Given the description of an element on the screen output the (x, y) to click on. 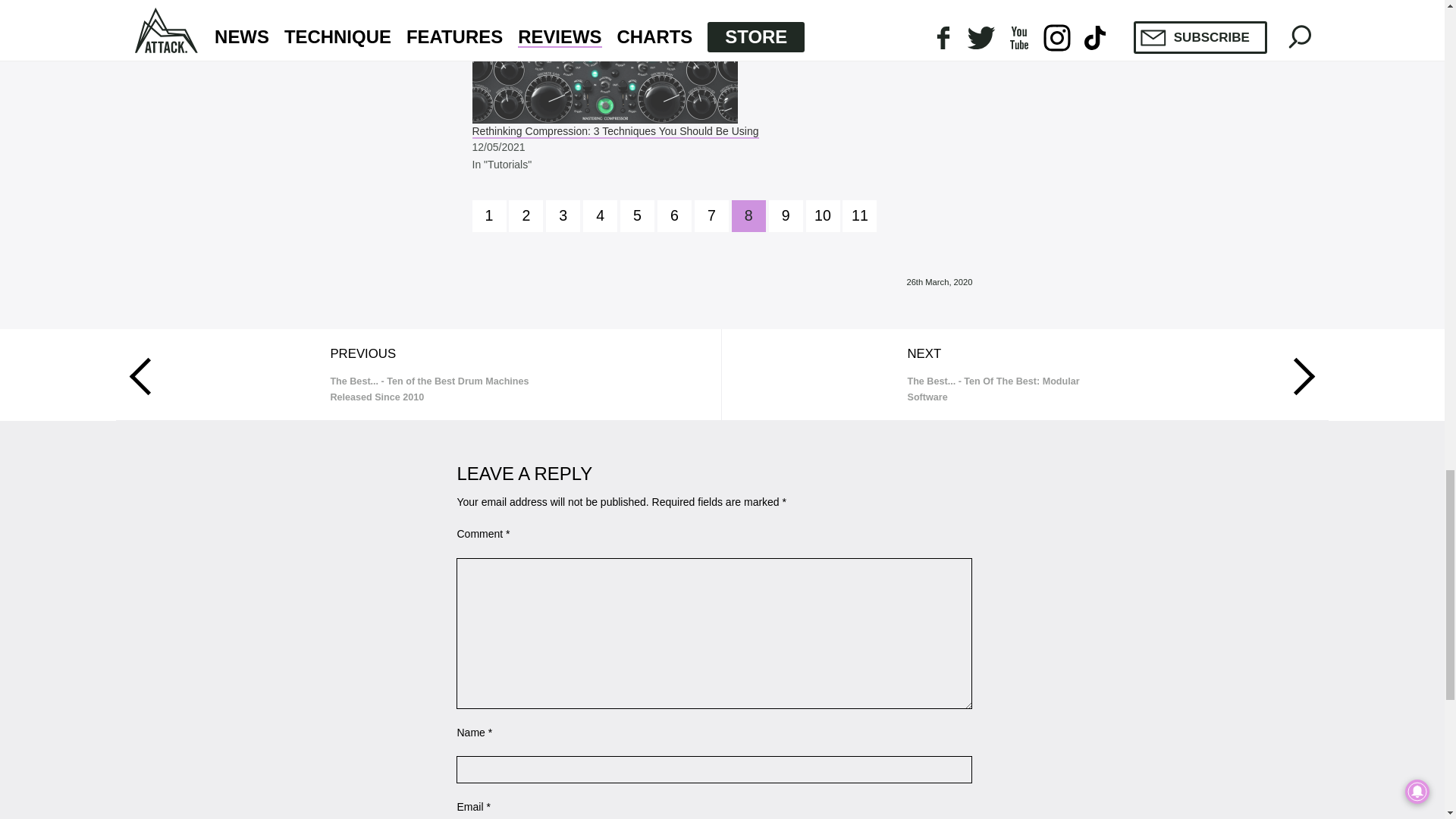
Rethinking Compression: 3 Techniques You Should Be Using (721, 61)
Rethinking Compression: 3 Techniques You Should Be Using (614, 131)
